Given the description of an element on the screen output the (x, y) to click on. 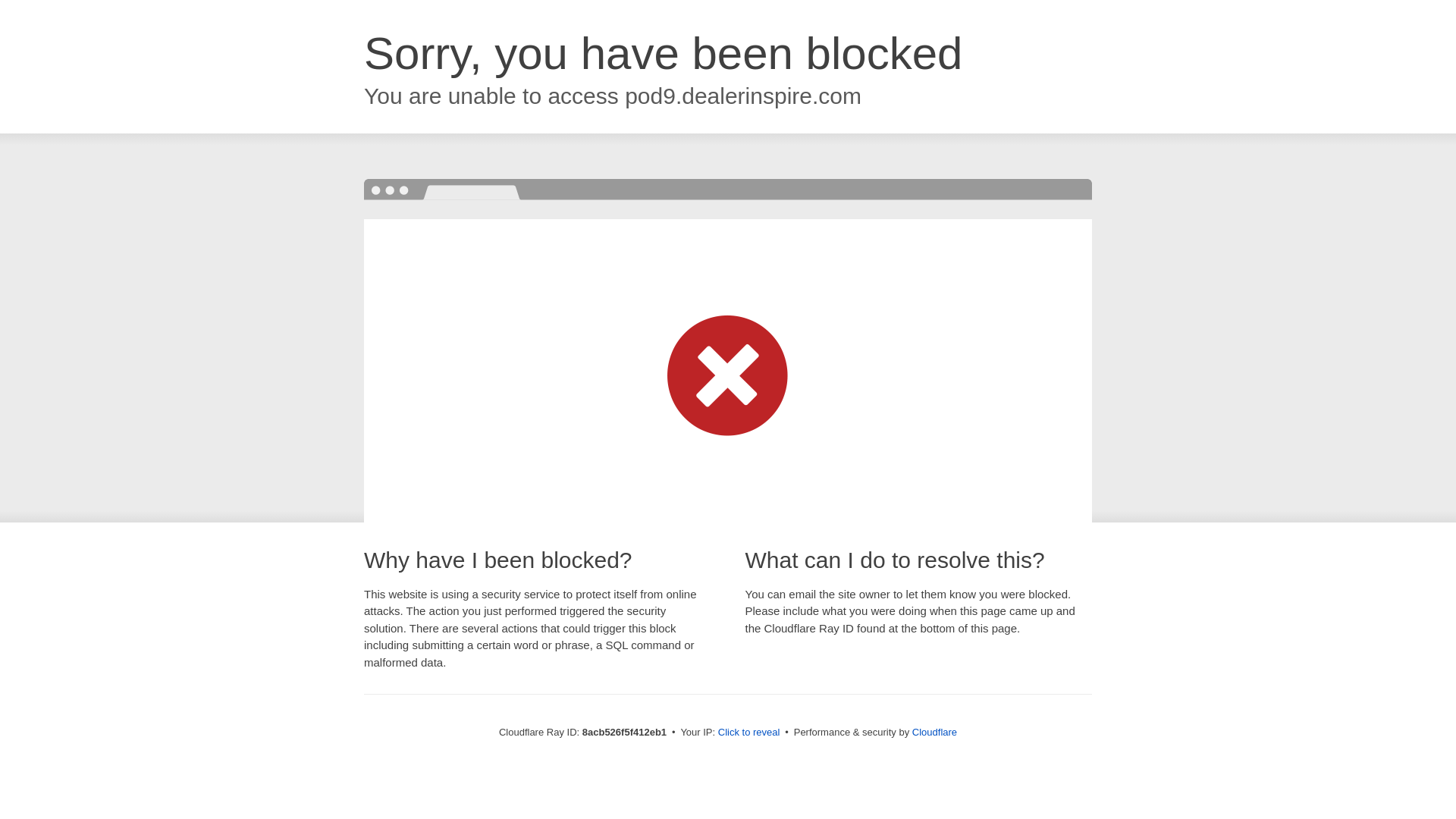
Cloudflare (934, 731)
Click to reveal (748, 732)
